Given the description of an element on the screen output the (x, y) to click on. 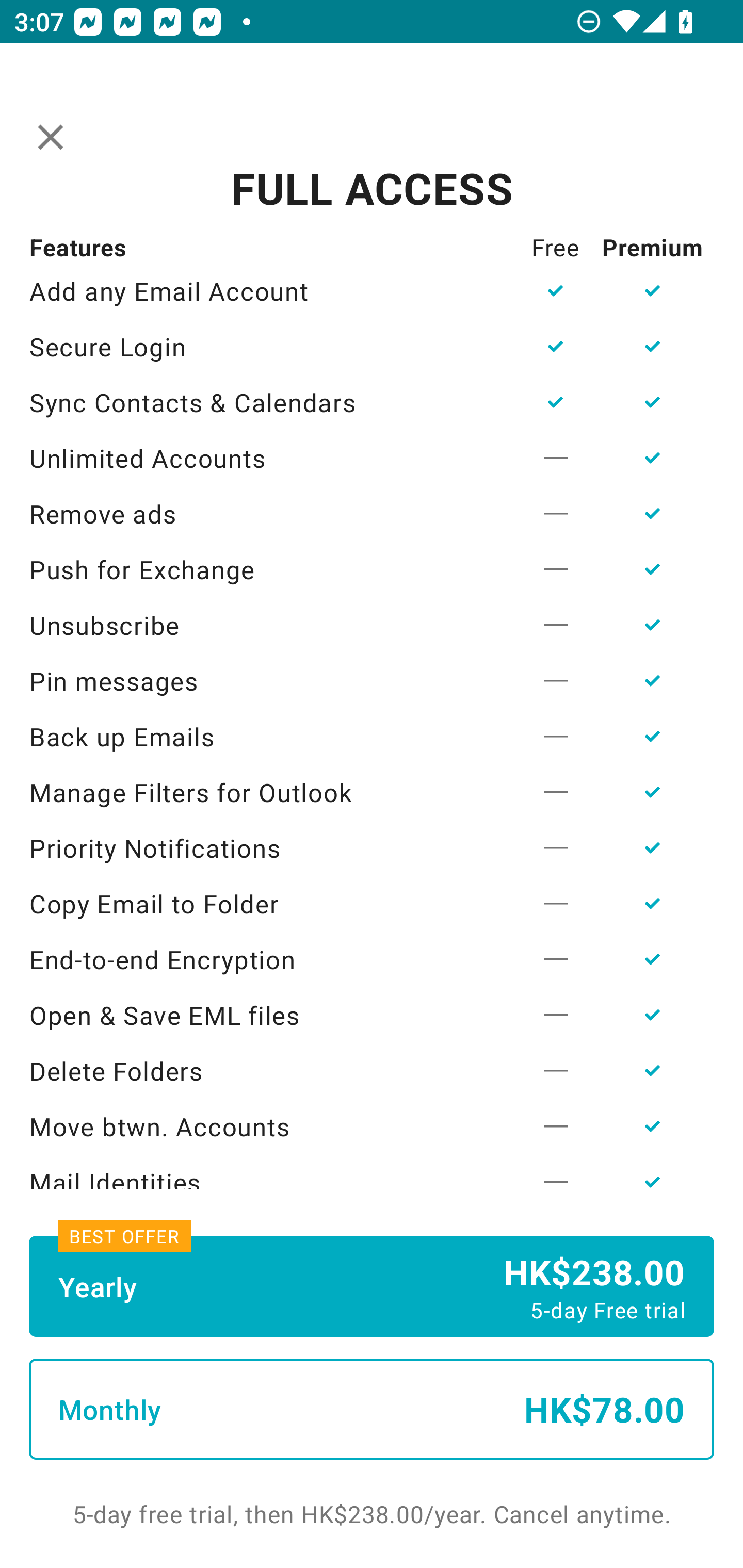
Yearly HK$238.00 5-day Free trial (371, 1286)
Monthly HK$78.00 (371, 1408)
